Given the description of an element on the screen output the (x, y) to click on. 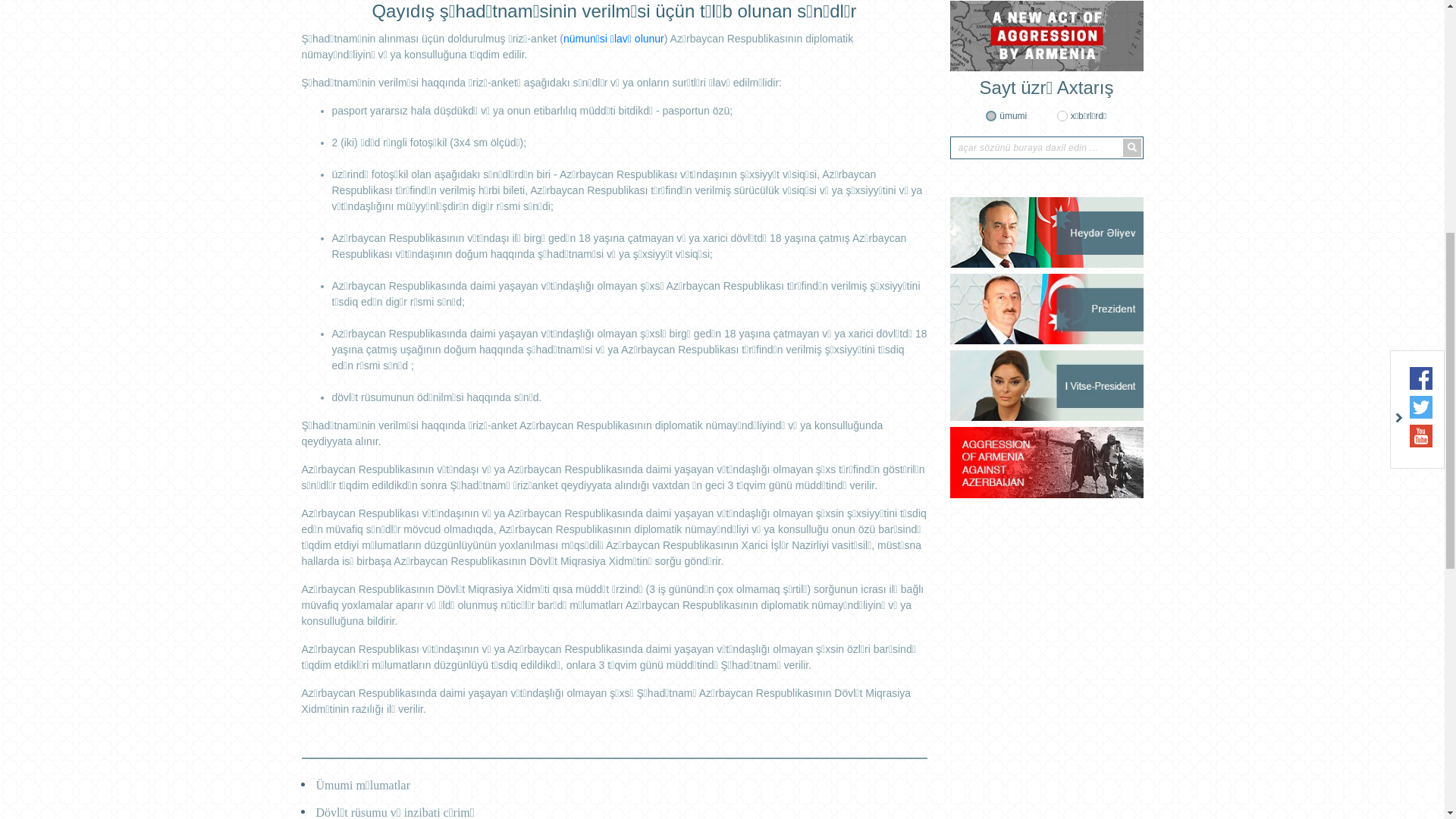
RU Element type: text (1082, 111)
RO Element type: text (1132, 111)
AZ Element type: text (1059, 111)
EN Element type: text (1107, 111)
